Given the description of an element on the screen output the (x, y) to click on. 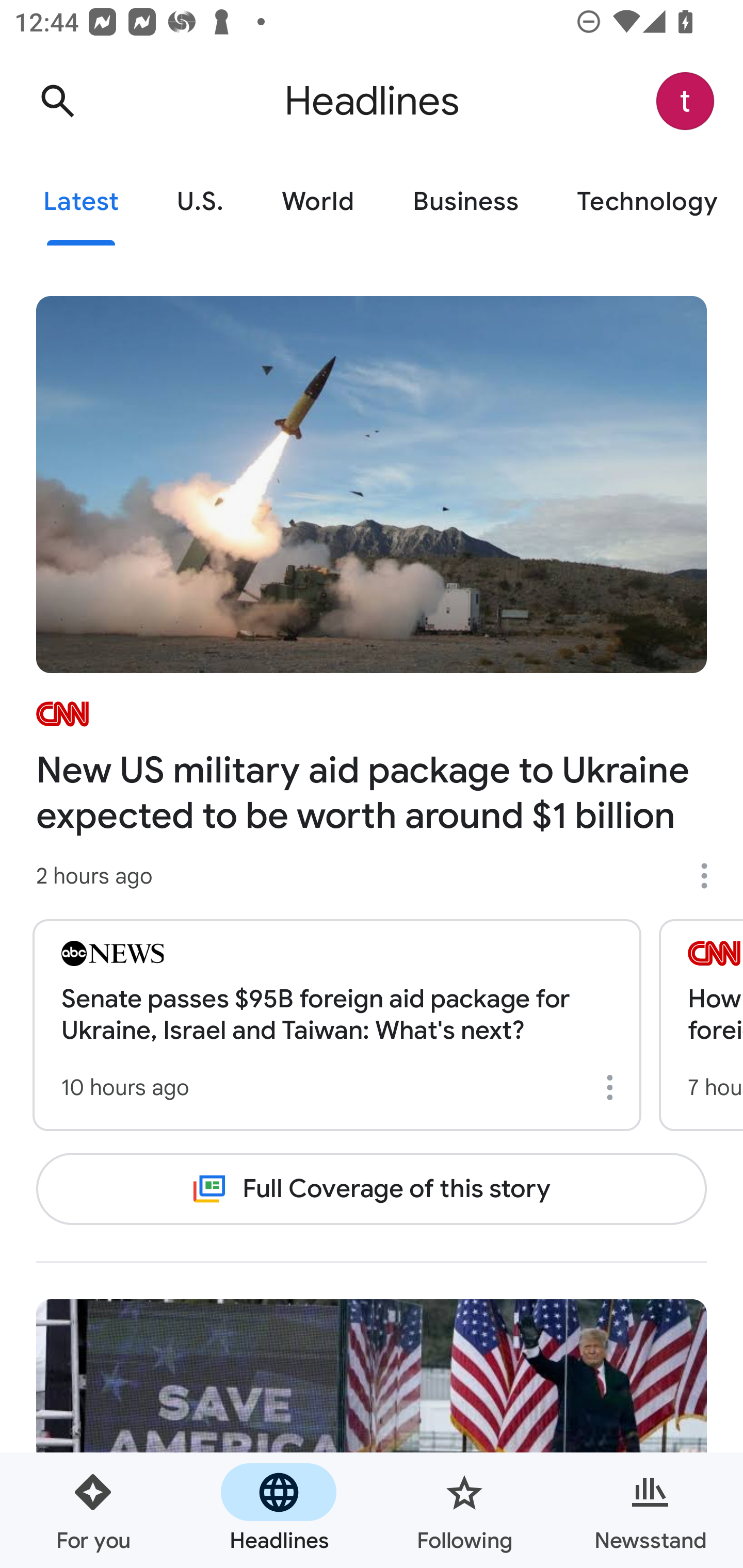
Search (57, 100)
U.S. (199, 202)
World (317, 202)
Business (465, 202)
Technology (645, 202)
More options (711, 875)
More options (613, 1086)
Full Coverage of this story (371, 1188)
For you (92, 1509)
Headlines (278, 1509)
Following (464, 1509)
Newsstand (650, 1509)
